Given the description of an element on the screen output the (x, y) to click on. 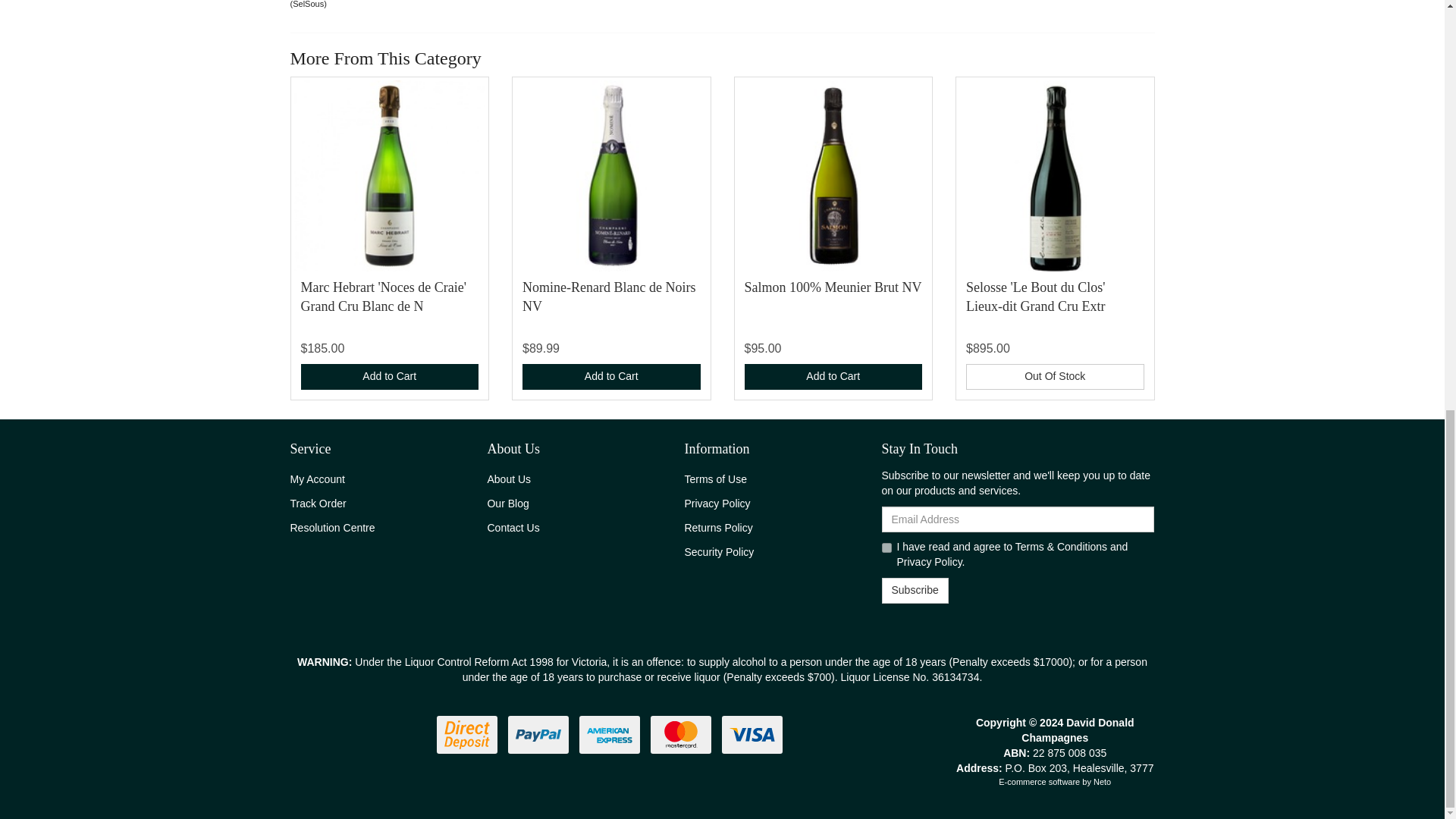
Subscribe (913, 590)
y (885, 547)
Add Nomine-Renard Blanc de Noirs NV to Cart (611, 376)
